Given the description of an element on the screen output the (x, y) to click on. 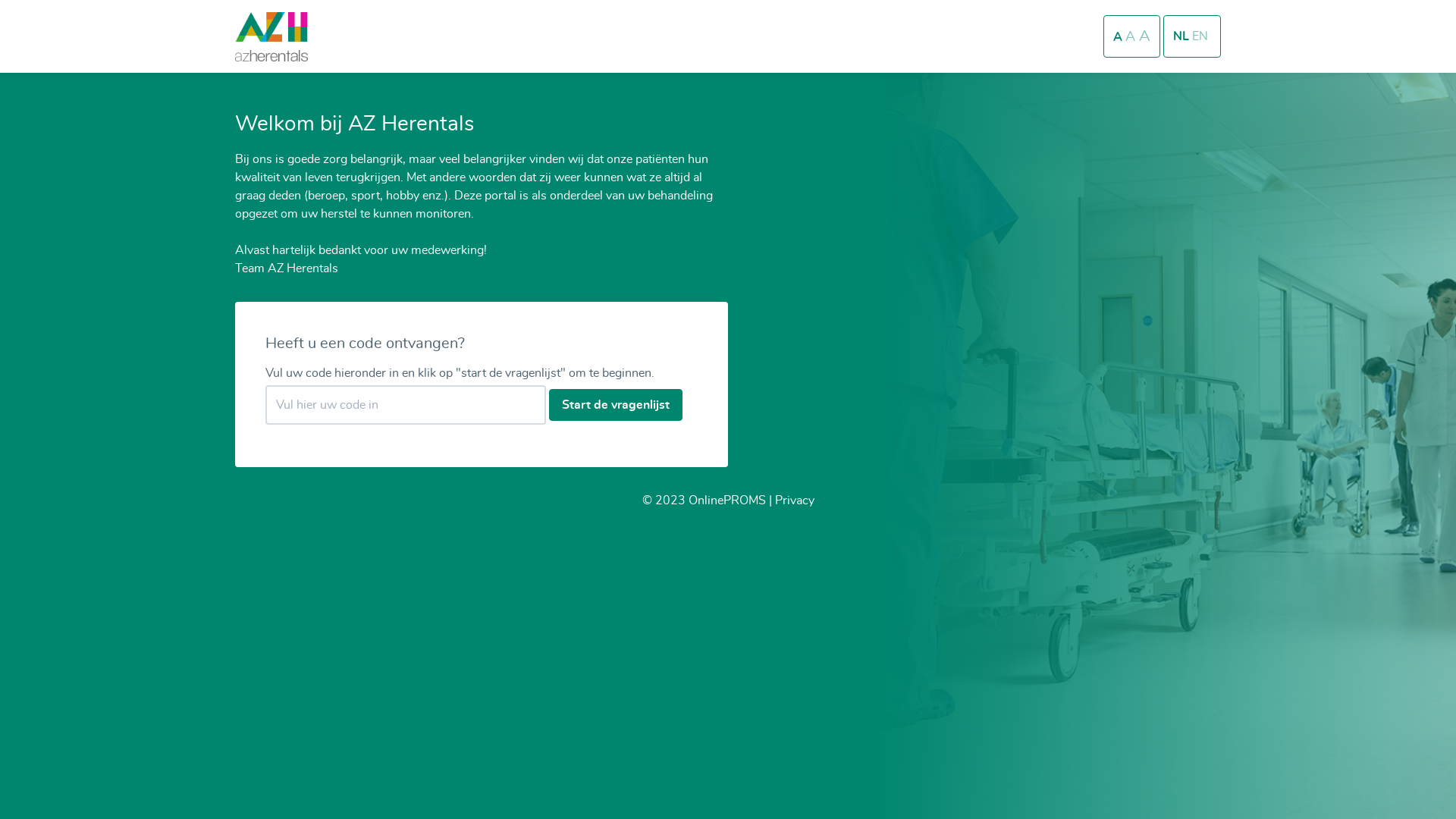
EN Element type: text (1200, 36)
A Element type: text (1132, 36)
Privacy Element type: text (794, 500)
A Element type: text (1119, 37)
Start de vragenlijst Element type: text (615, 404)
A Element type: text (1144, 35)
